Given the description of an element on the screen output the (x, y) to click on. 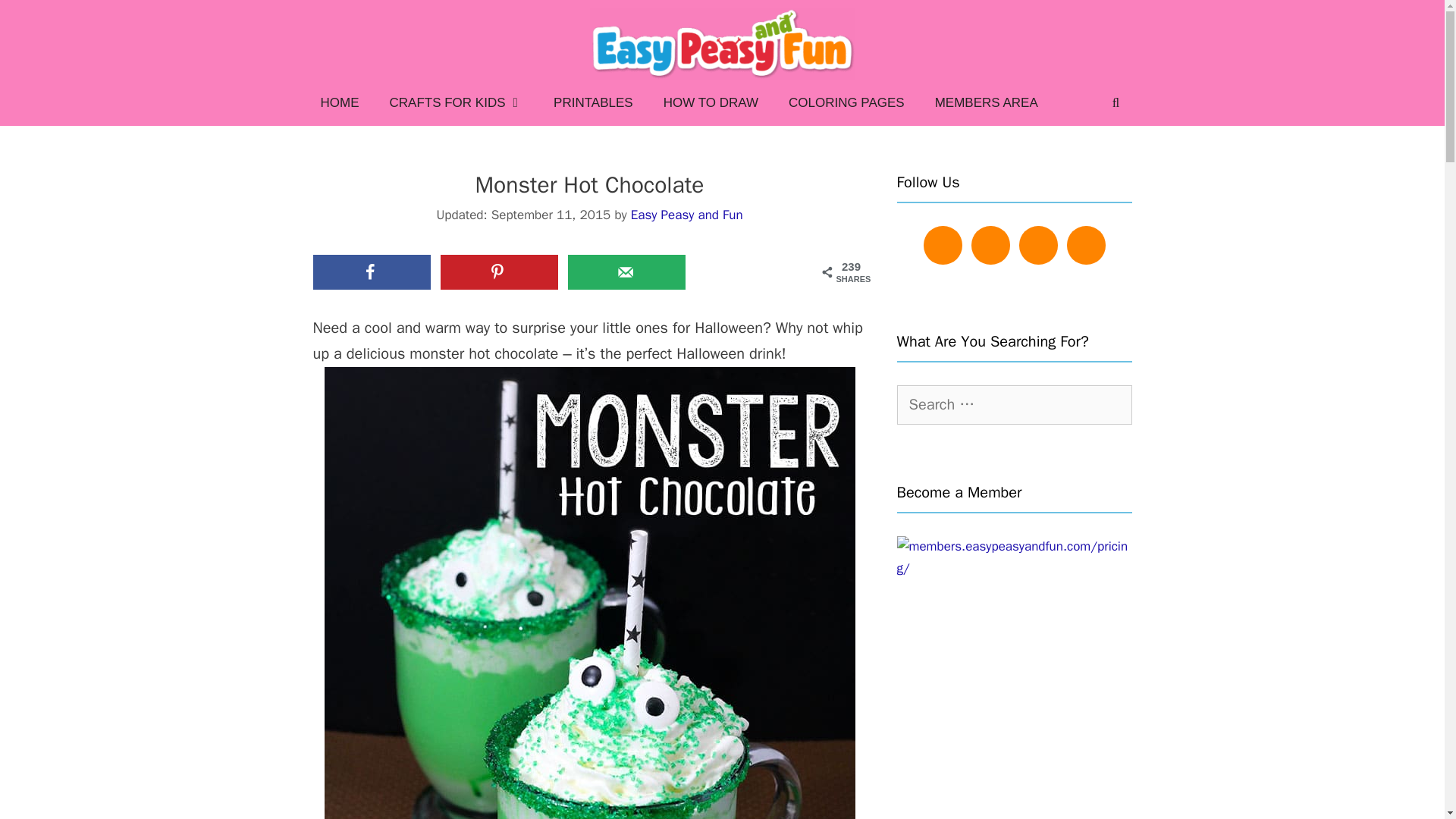
Share on Facebook (371, 271)
Save to Pinterest (499, 271)
View all posts by Easy Peasy and Fun (686, 214)
HOW TO DRAW (710, 103)
Easy Peasy and Fun (686, 214)
COLORING PAGES (846, 103)
Send over email (626, 271)
MEMBERS AREA (986, 103)
Search for: (1013, 404)
CRAFTS FOR KIDS (456, 103)
PRINTABLES (592, 103)
HOME (339, 103)
